Given the description of an element on the screen output the (x, y) to click on. 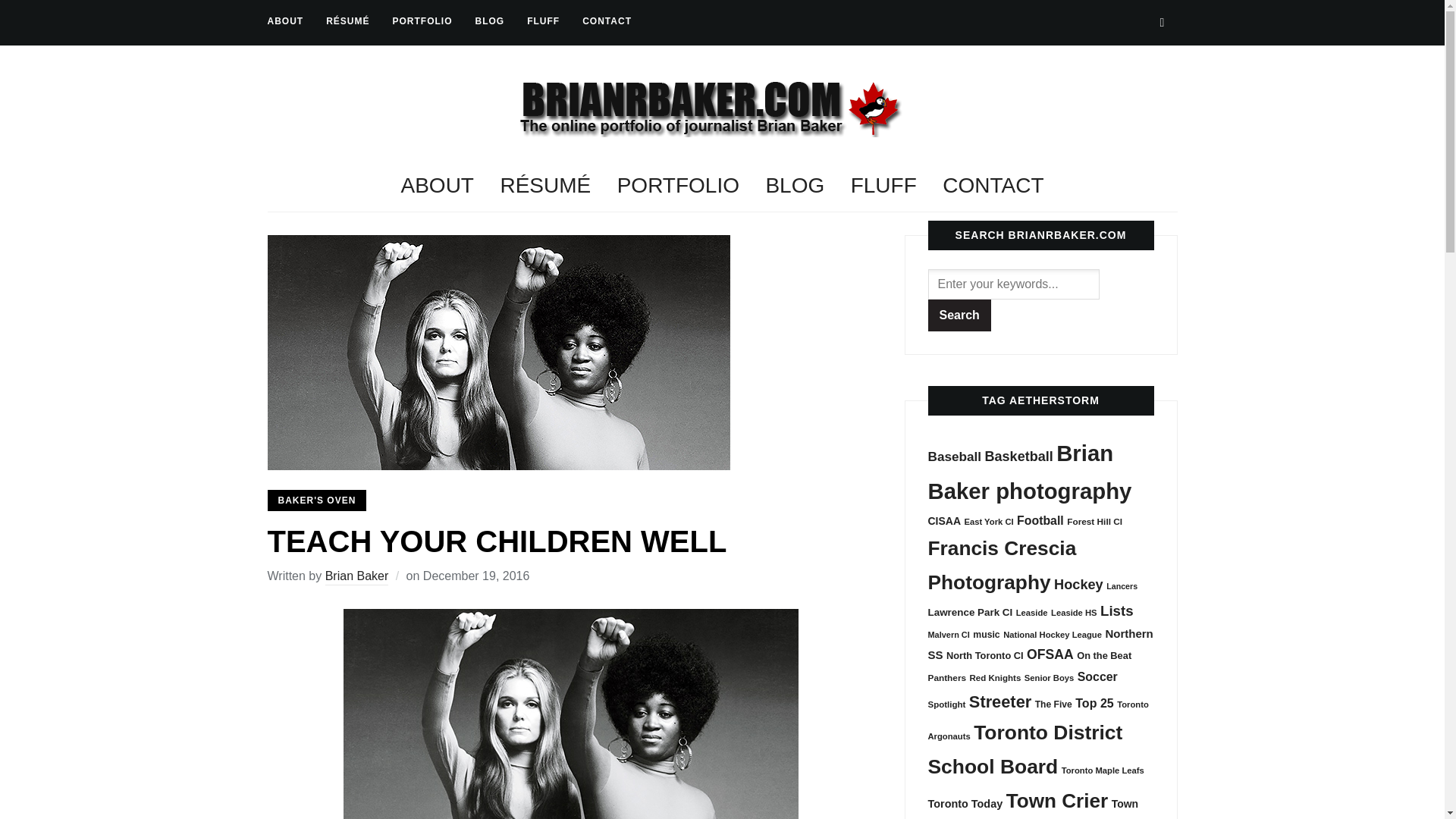
Posts by Brian Baker (356, 577)
BLOG (490, 21)
PORTFOLIO (422, 21)
Search (1161, 22)
FLUFF (543, 21)
ABOUT (284, 21)
CONTACT (606, 21)
Search (959, 315)
Search (959, 315)
